Given the description of an element on the screen output the (x, y) to click on. 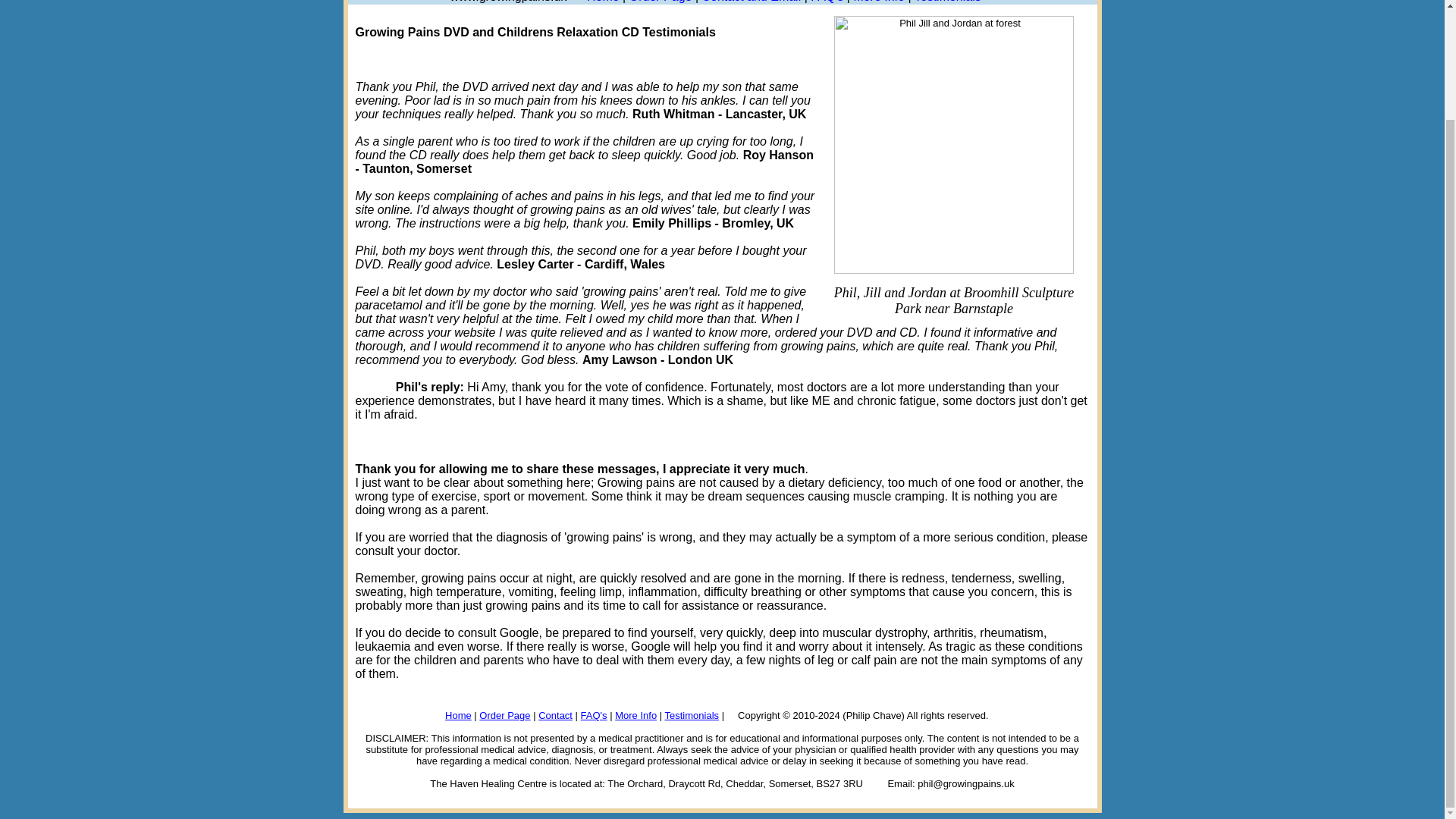
Testimonials (691, 715)
FAQ's (826, 1)
Growing Pains Home Page (603, 1)
Home (458, 715)
Growing Pains Contact Page (750, 1)
More Info (878, 1)
FAQ's (593, 715)
Home (603, 1)
Contact and Email (750, 1)
More Info (635, 715)
Growing Pains DVD Testimonials Page (947, 1)
More Information About Growing Pains (878, 1)
Growing Pains DVD FAQ Page (826, 1)
Growing Pains in Childhood DVD (721, 754)
Order Page (504, 715)
